Given the description of an element on the screen output the (x, y) to click on. 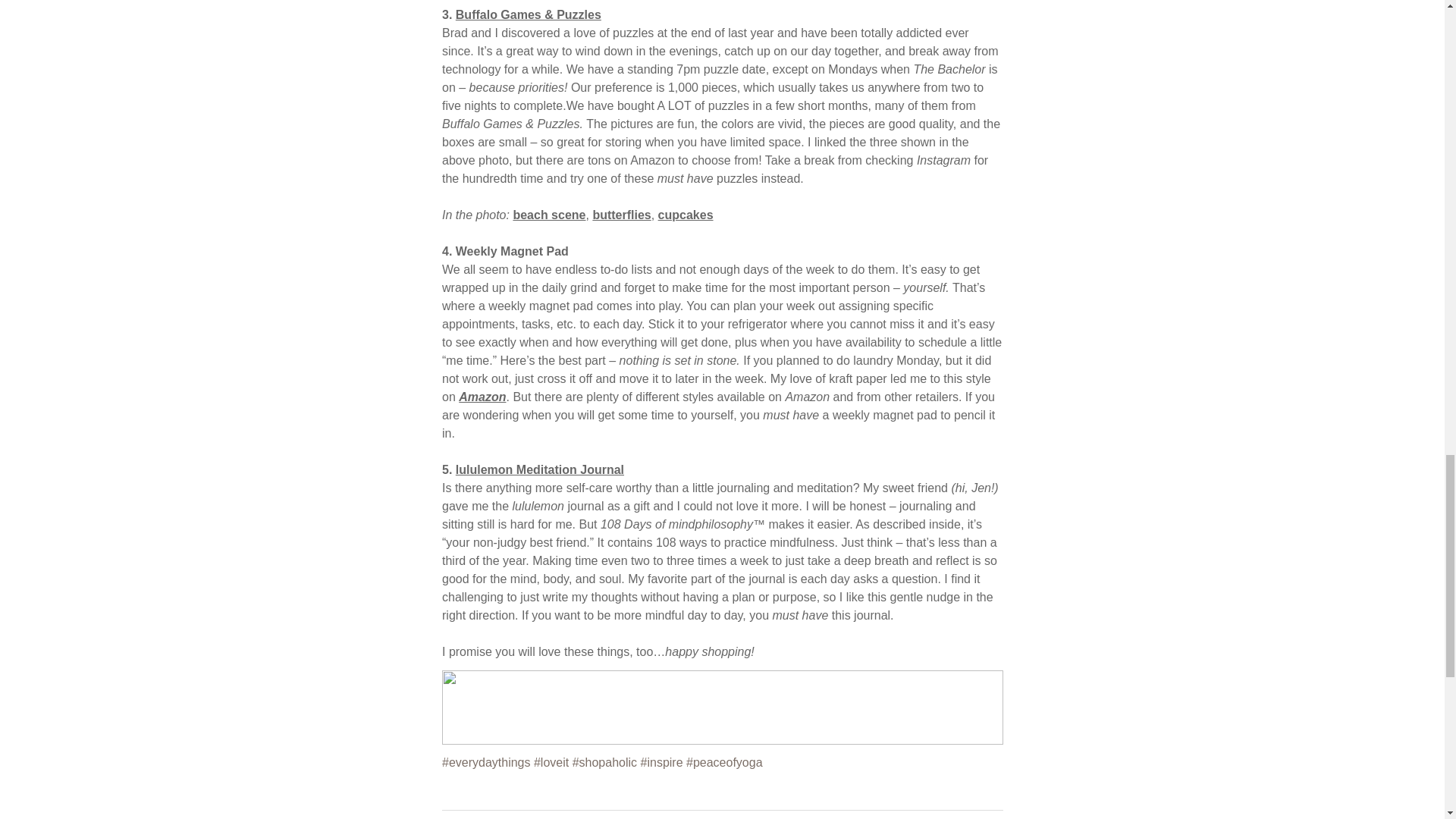
Amazon (481, 396)
Amazon (652, 160)
cupcakes (685, 214)
lululemon Meditation Journal (538, 469)
butterflies (621, 214)
beach scene (548, 214)
